Given the description of an element on the screen output the (x, y) to click on. 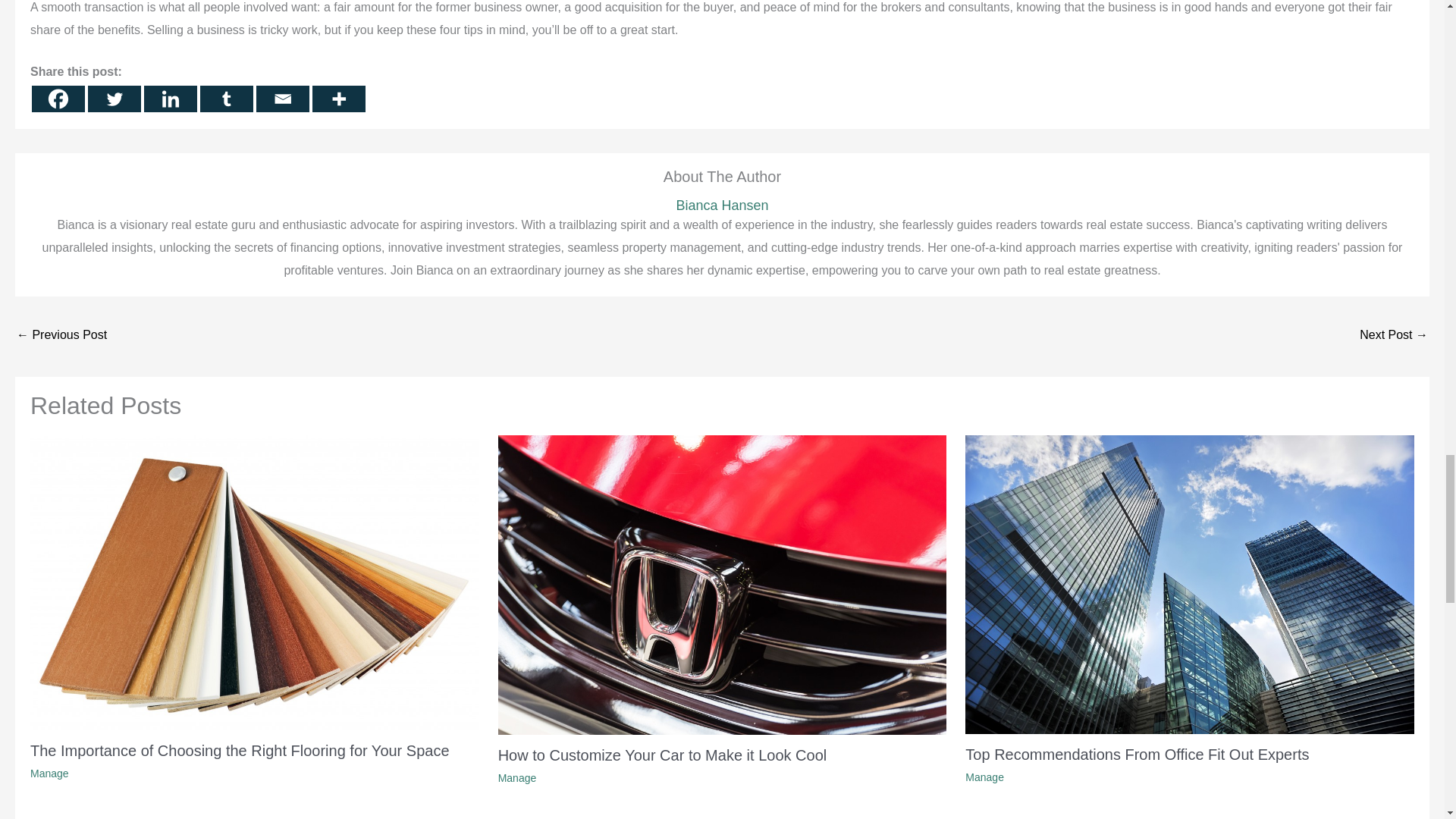
How to Customize Your Car to Make it Look Cool (662, 754)
Email (282, 98)
Facebook (58, 98)
Manage (517, 777)
Manage (49, 773)
More (339, 98)
Manage (984, 776)
Tumblr (226, 98)
Twitter (114, 98)
Linkedin (170, 98)
The Importance of Choosing the Right Flooring for Your Space (239, 750)
Top Recommendations From Office Fit Out Experts (1136, 754)
Bianca Hansen (721, 205)
